Given the description of an element on the screen output the (x, y) to click on. 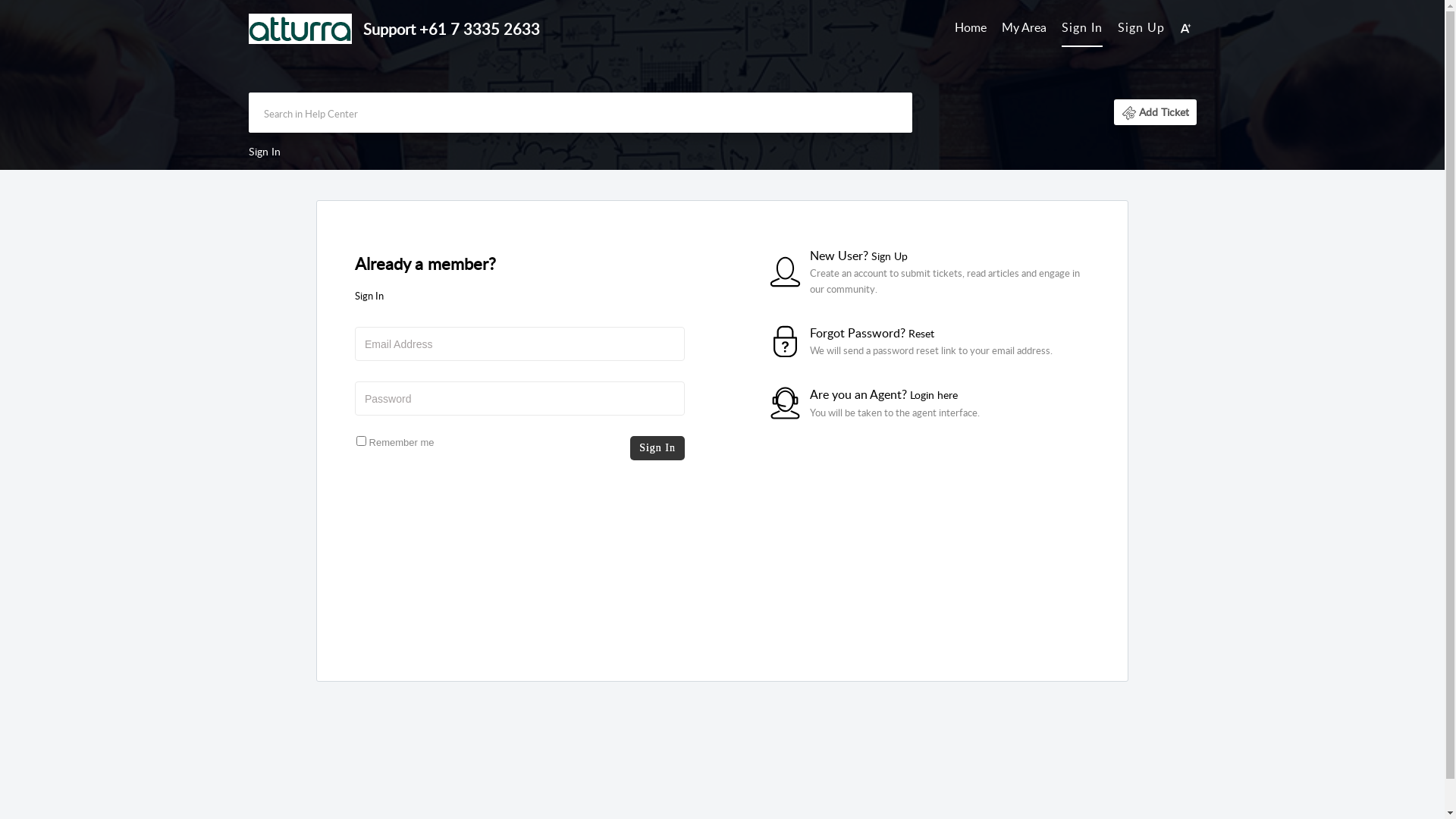
Sign Up Element type: text (888, 255)
Login here Element type: text (933, 394)
Reset Element type: text (921, 333)
Add Ticket Element type: text (1154, 111)
Home Element type: text (970, 27)
Sign In Element type: text (1081, 26)
My Area Element type: text (1023, 27)
Sign Up Element type: text (1140, 26)
